Given the description of an element on the screen output the (x, y) to click on. 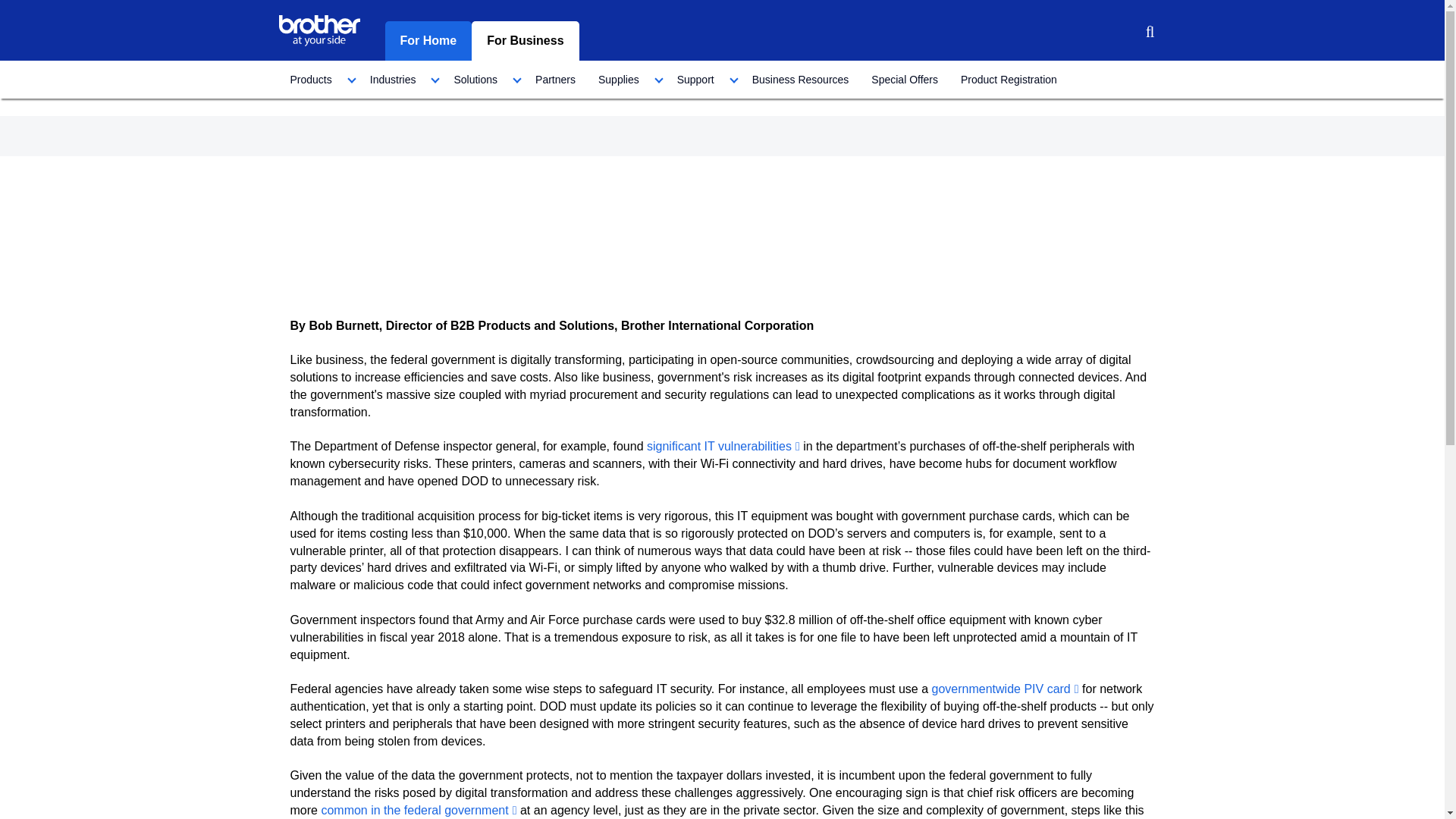
For Home (428, 41)
Login (1111, 33)
Products (318, 79)
For Business (524, 41)
